Given the description of an element on the screen output the (x, y) to click on. 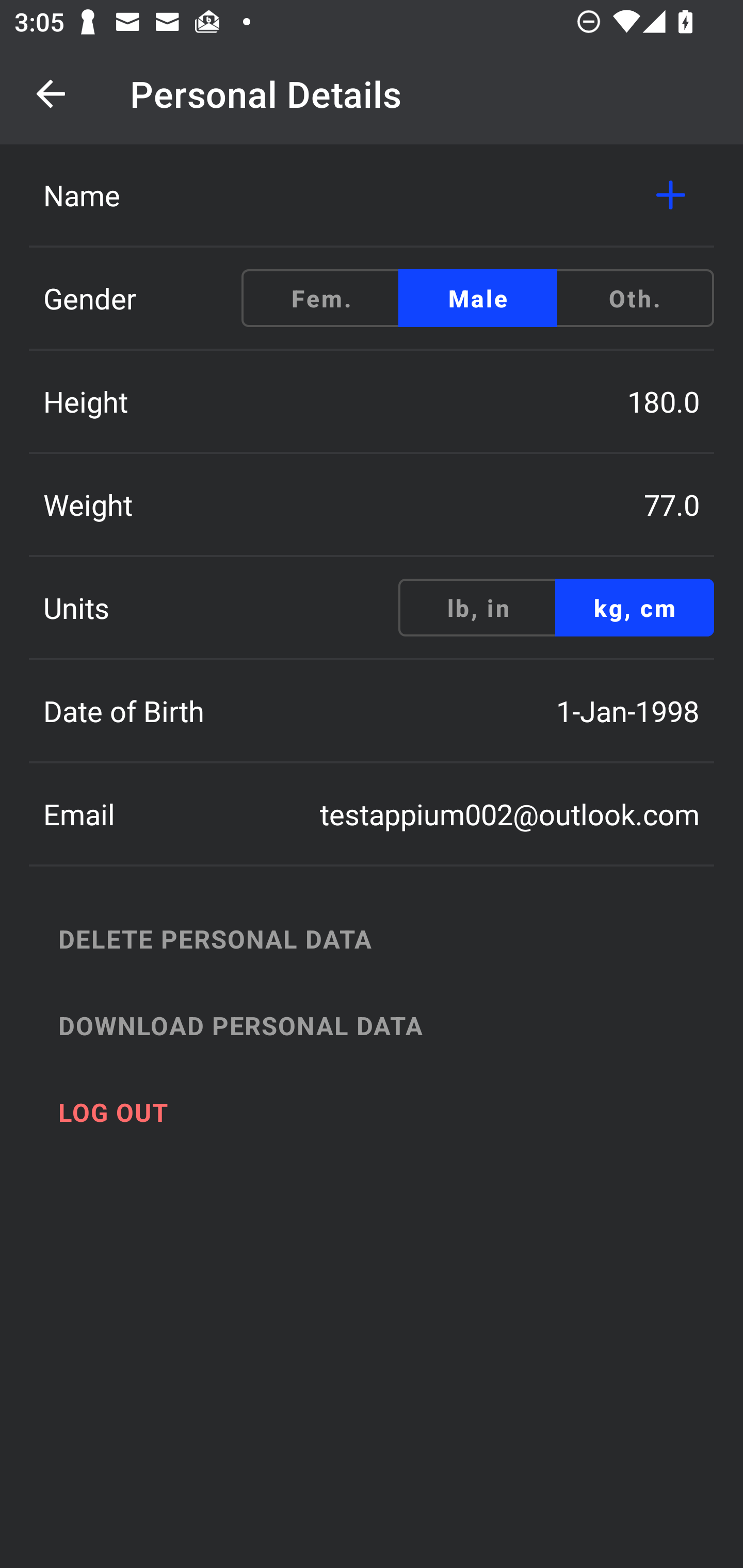
Name (371, 195)
Fem. (320, 298)
Male (477, 298)
Oth. (634, 298)
Height 180.0 (371, 401)
Weight 77.0 (371, 504)
lb, in (477, 607)
kg, cm (634, 607)
Date of Birth 1-Jan-1998 (371, 711)
Email testappium002@outlook.com (371, 813)
DELETE PERSONAL DATA (393, 938)
DOWNLOAD PERSONAL DATA (393, 1025)
LOG OUT (393, 1112)
